Given the description of an element on the screen output the (x, y) to click on. 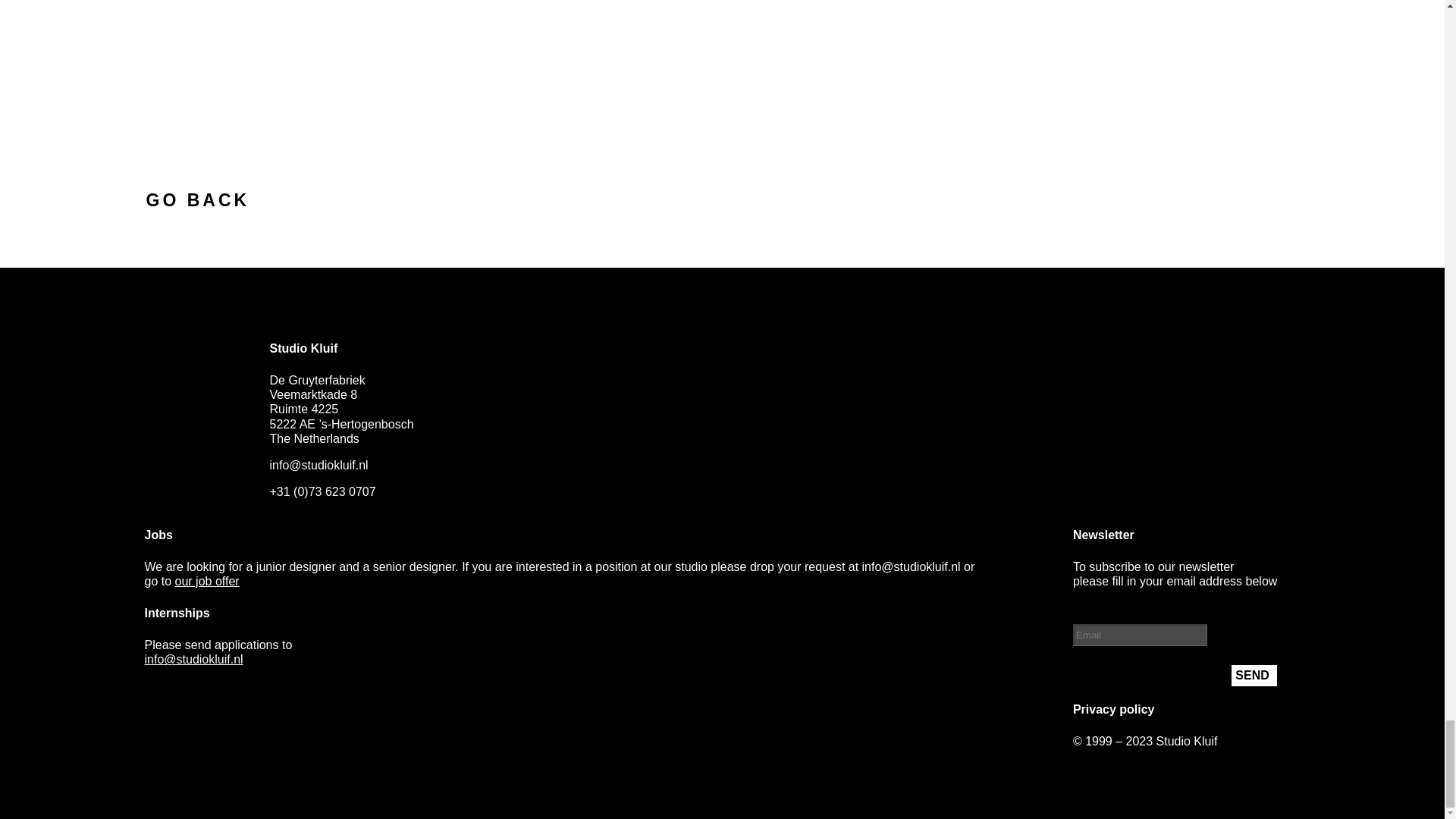
our job offer (207, 581)
GO BACK (196, 199)
SEND (1253, 675)
